Given the description of an element on the screen output the (x, y) to click on. 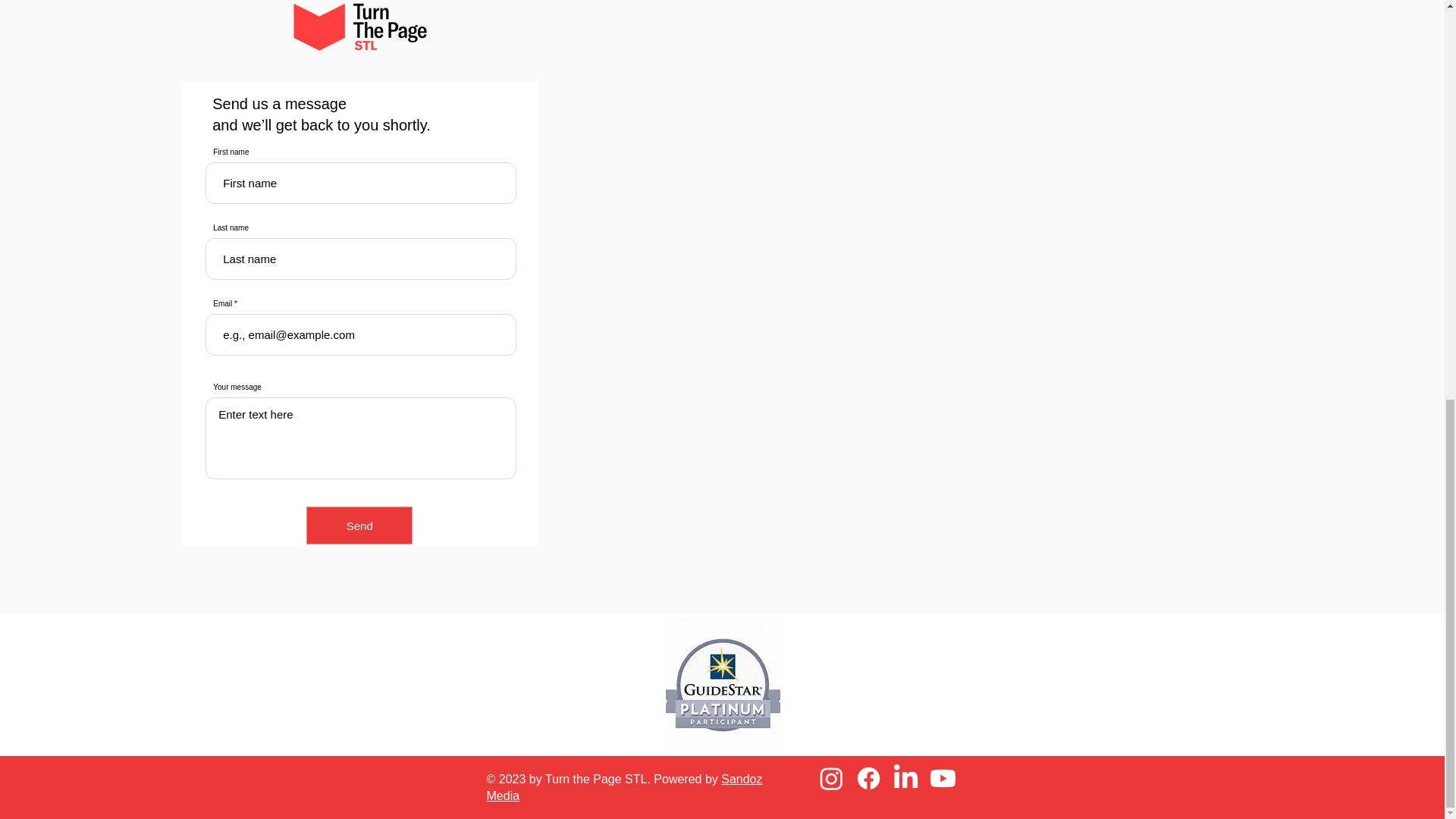
Send (358, 525)
Sandoz Media (624, 787)
Google Maps (1082, 286)
